Given the description of an element on the screen output the (x, y) to click on. 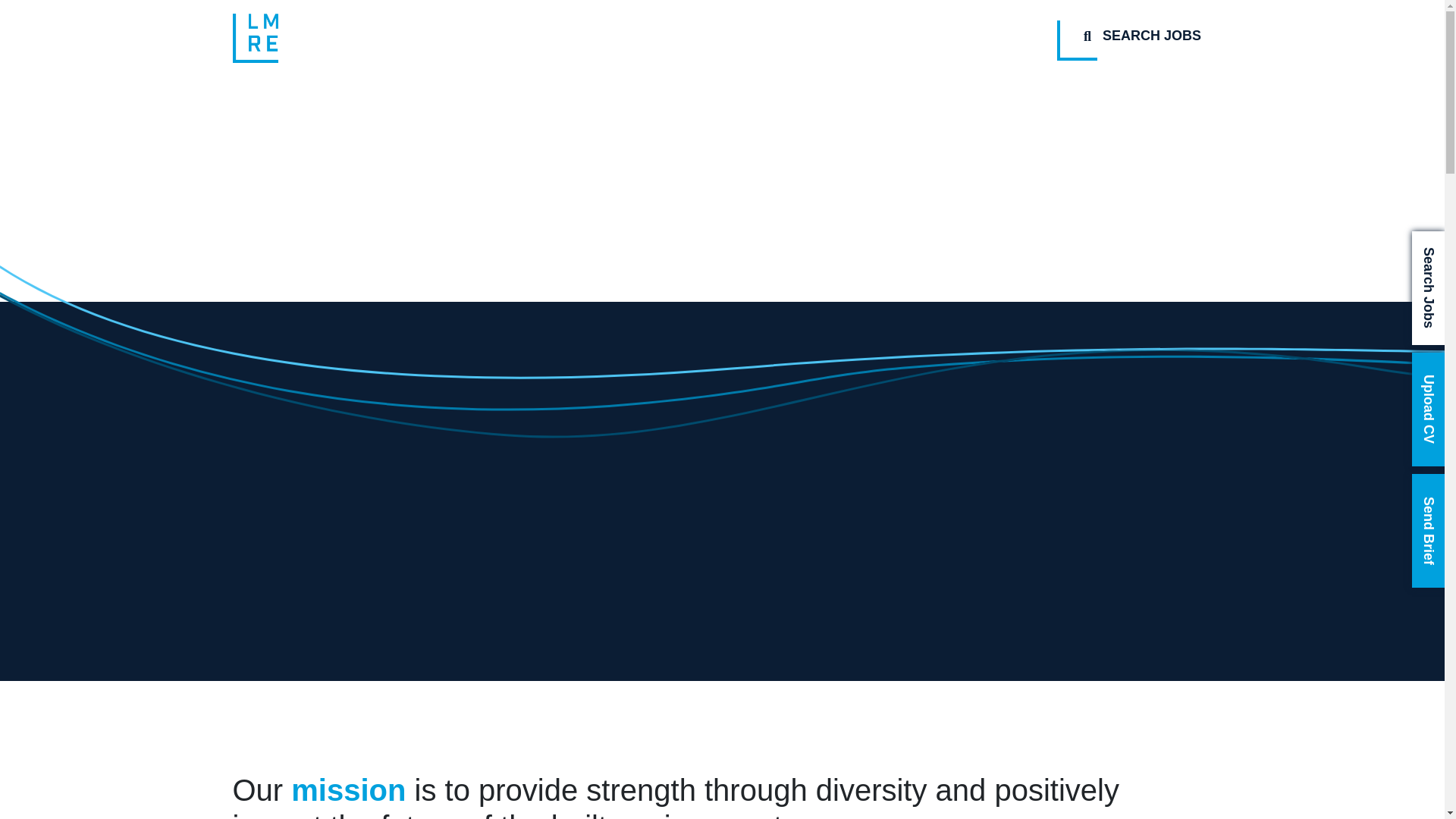
INSIGHTS (822, 37)
SEARCH JOBS (1141, 35)
CONTACT (935, 37)
ABOUT (401, 37)
GLOBAL LOCATIONS (676, 37)
WHAT WE DO (517, 37)
